Given the description of an element on the screen output the (x, y) to click on. 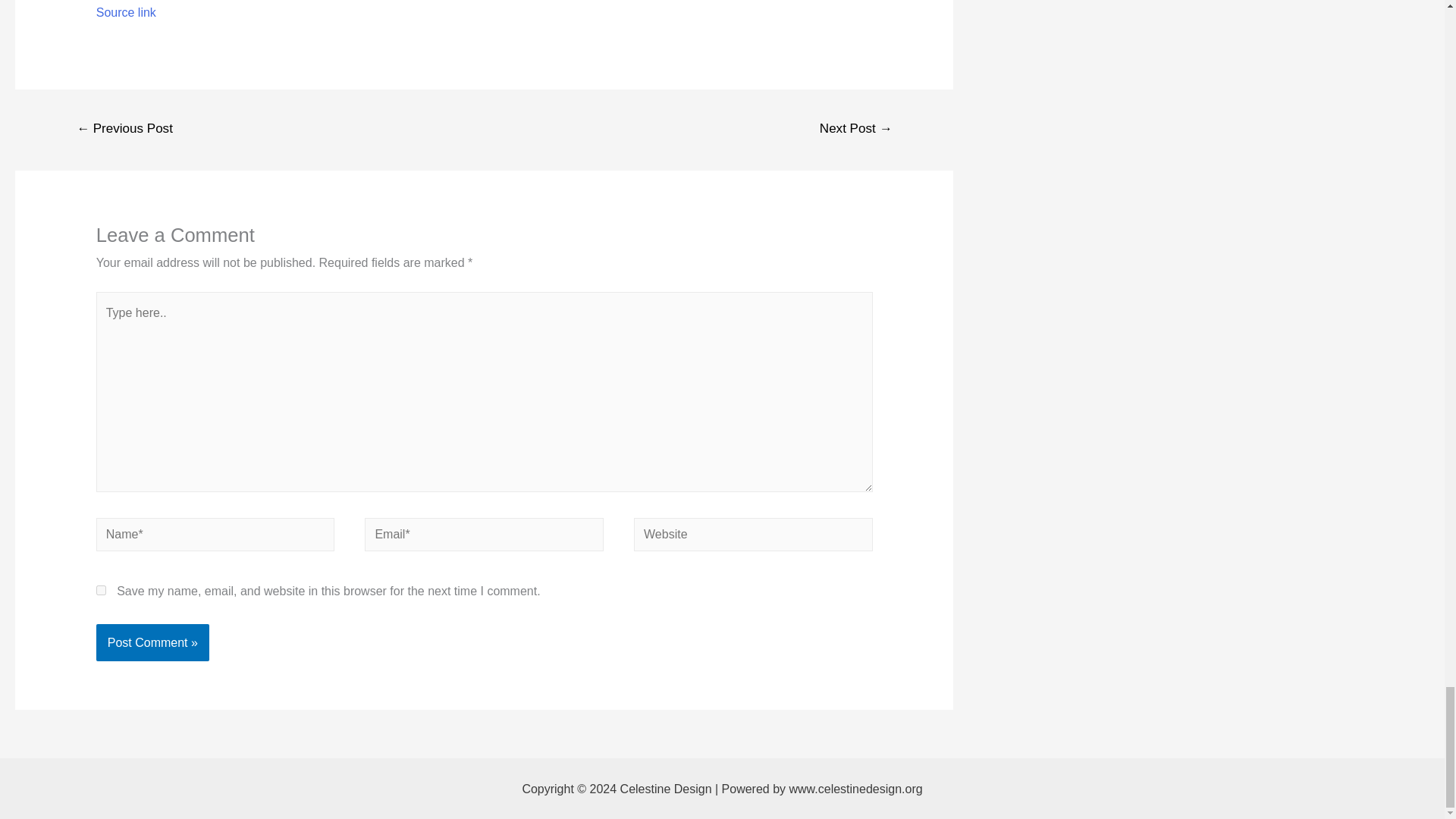
yes (101, 590)
